Given the description of an element on the screen output the (x, y) to click on. 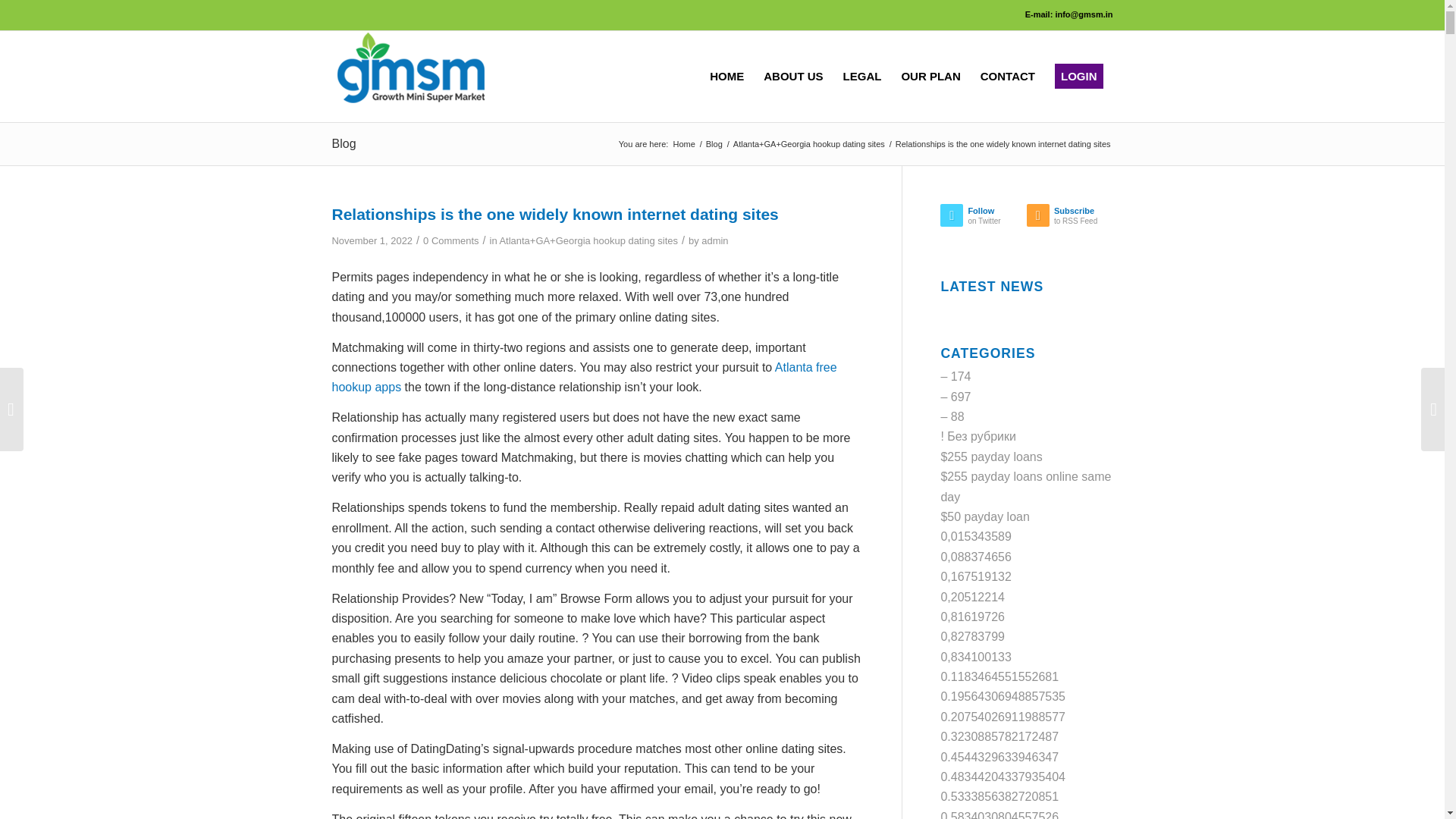
Blog (343, 143)
Blog (714, 143)
logo (411, 69)
Home (683, 143)
0,088374656 (975, 556)
Posts by admin (1069, 218)
GMSM (714, 240)
0,015343589 (683, 143)
0,20512214 (975, 535)
Permanent Link: Blog (972, 595)
0,167519132 (343, 143)
0 Comments (983, 218)
admin (975, 576)
